Given the description of an element on the screen output the (x, y) to click on. 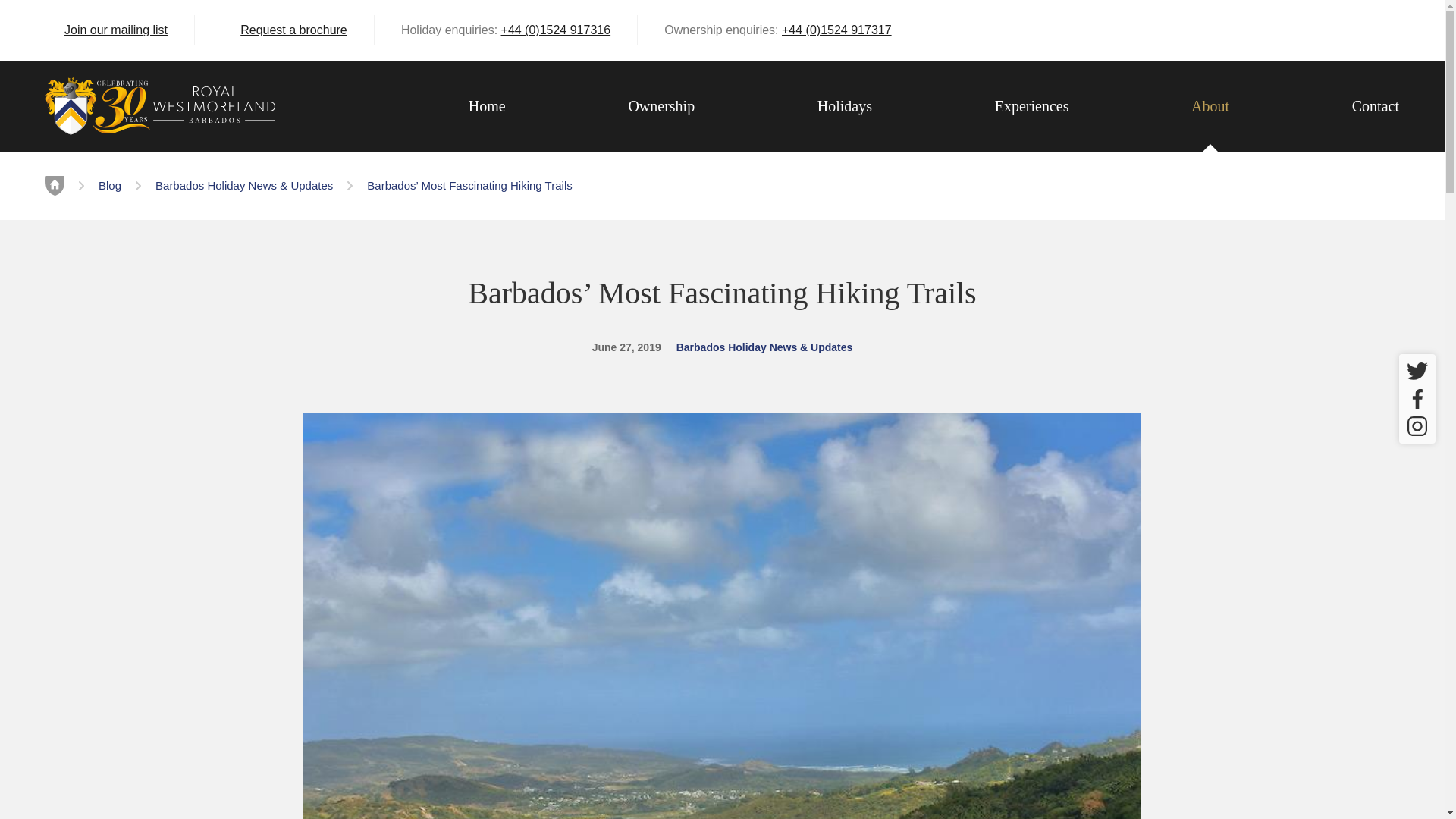
Join our mailing list (106, 30)
Search (1391, 29)
Request a brochure (284, 30)
Holidays (844, 105)
Home (486, 105)
Ownership (660, 105)
